Given the description of an element on the screen output the (x, y) to click on. 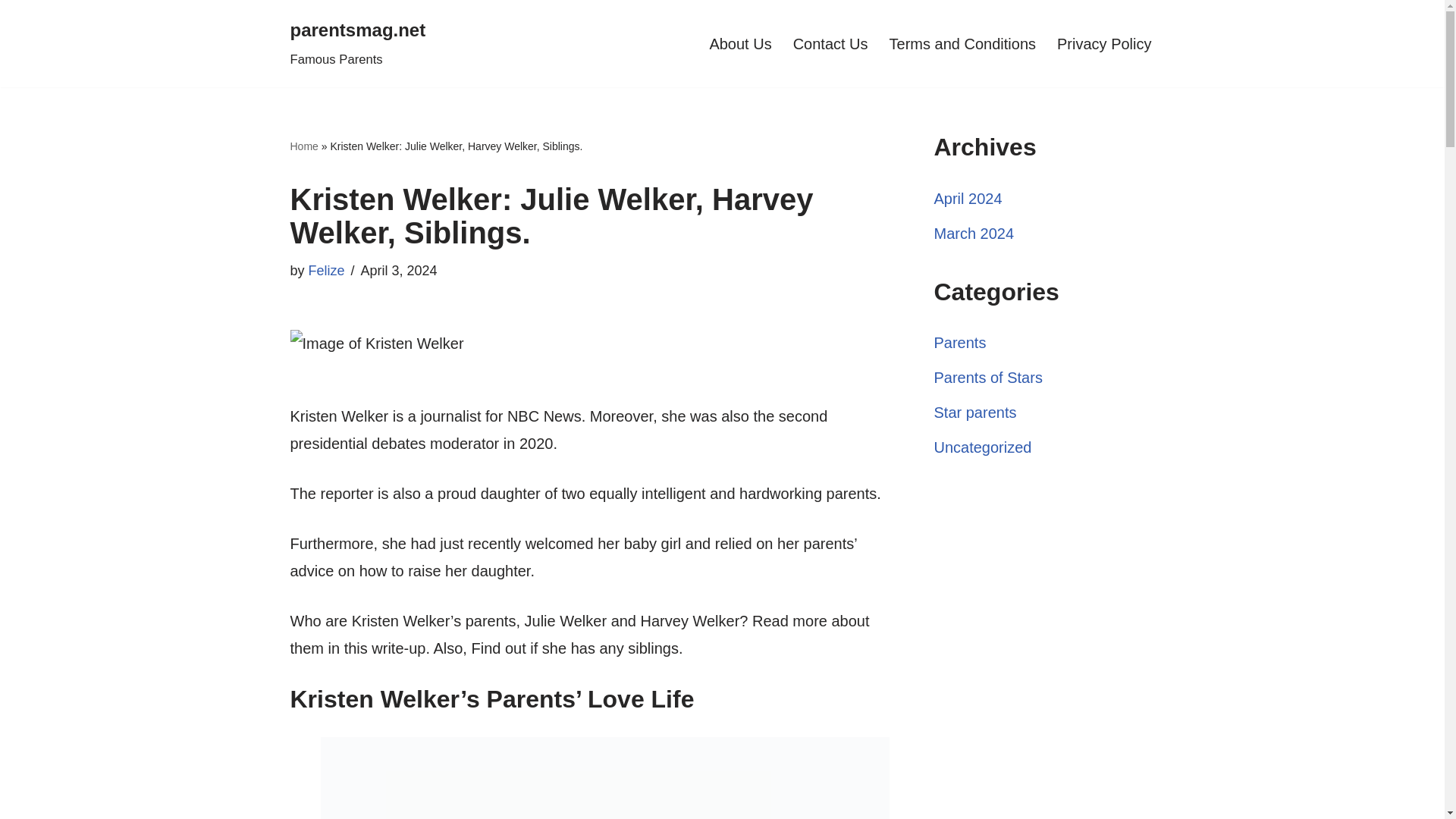
Star parents (975, 412)
Parents (960, 342)
Uncategorized (357, 43)
Felize (983, 446)
Parents of Stars (326, 270)
Posts by Felize (988, 377)
Home (326, 270)
Contact Us (303, 146)
March 2024 (830, 43)
